Given the description of an element on the screen output the (x, y) to click on. 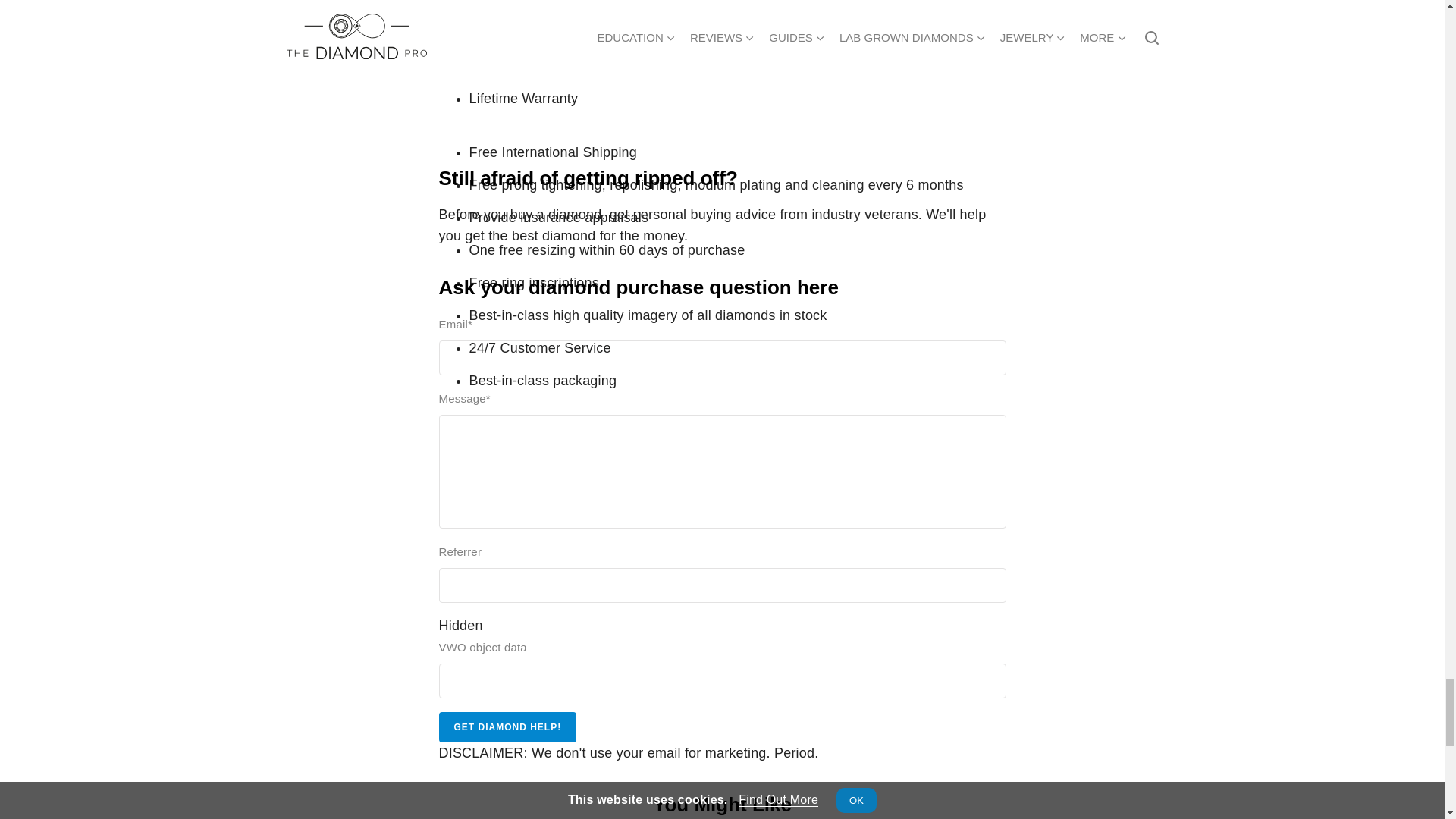
Get Diamond Help! (507, 726)
